Given the description of an element on the screen output the (x, y) to click on. 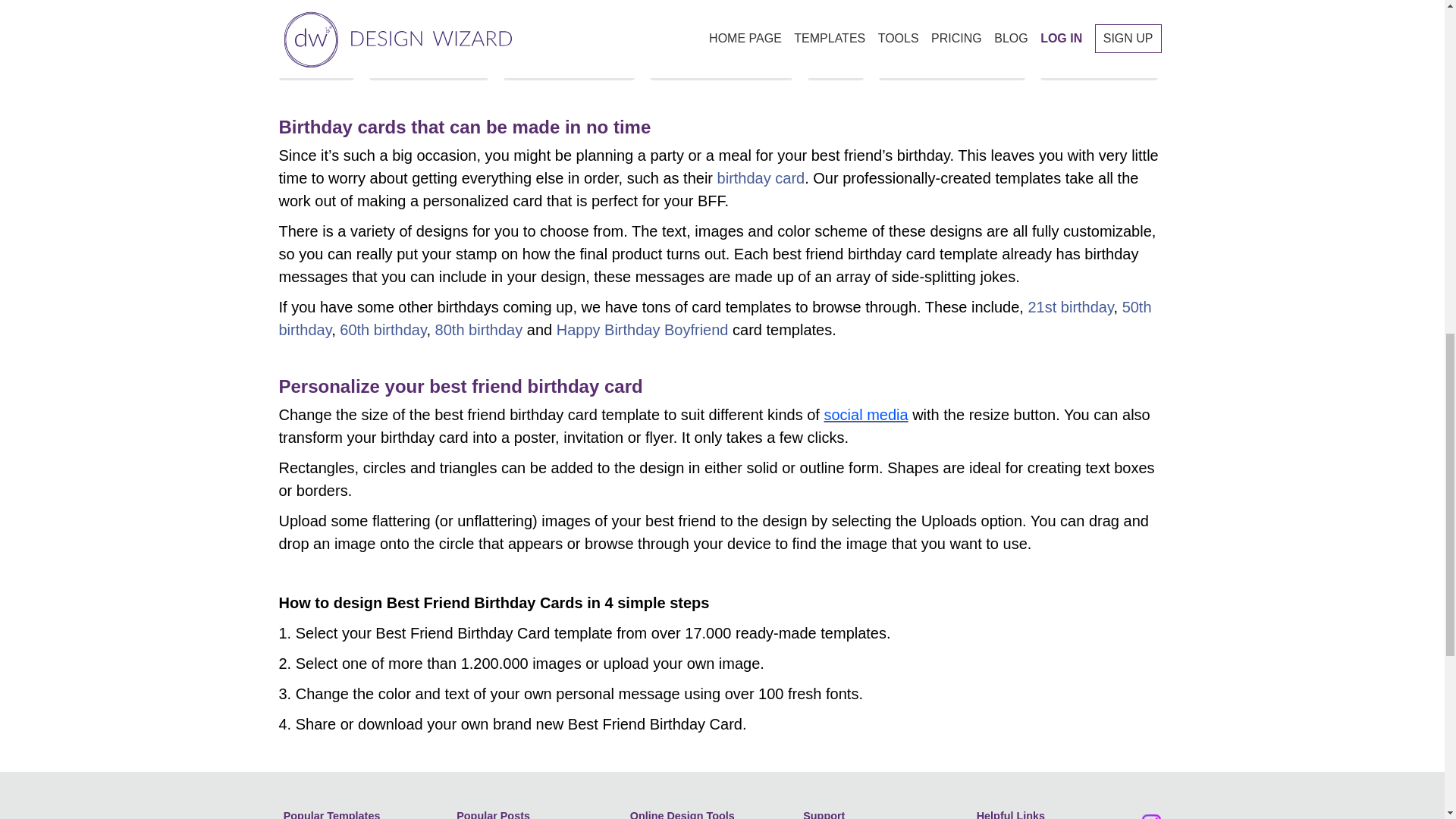
Father's Day (614, 3)
Easter Card Templates (884, 3)
Mothers Day Ecards (473, 3)
Mothers Day Ecards (473, 3)
80th Birthday (733, 3)
Easter Cards (330, 3)
Happy Birthday Dad (1203, 3)
Christmas Cards (1049, 3)
80th Birthday (733, 3)
Father's Day (614, 3)
